Given the description of an element on the screen output the (x, y) to click on. 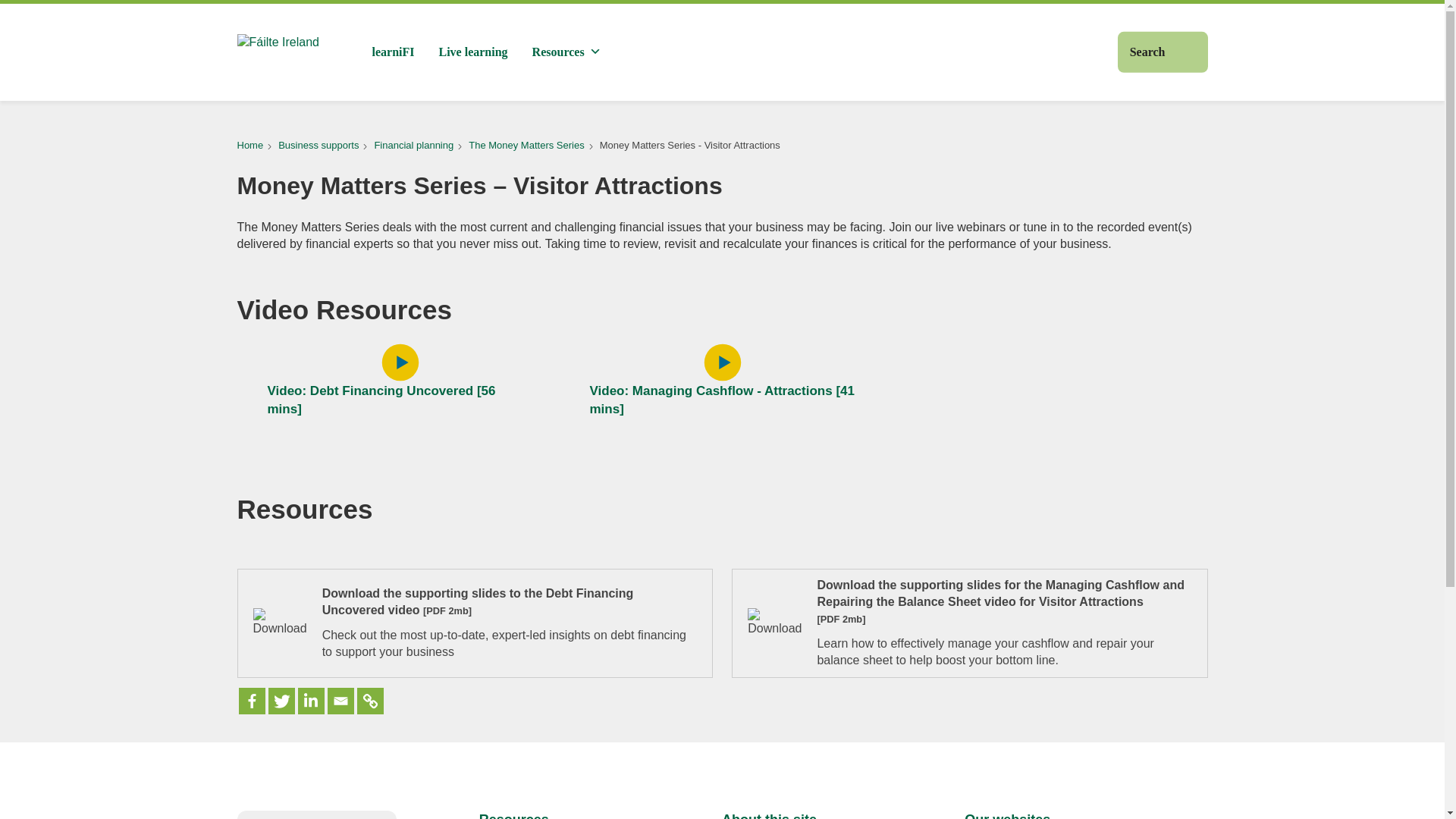
Linkedin (310, 700)
Search (1163, 51)
Resources (566, 52)
learniFI (392, 52)
Twitter (281, 700)
Email (340, 700)
Copy Link (369, 700)
Live learning (472, 52)
Facebook (251, 700)
